Given the description of an element on the screen output the (x, y) to click on. 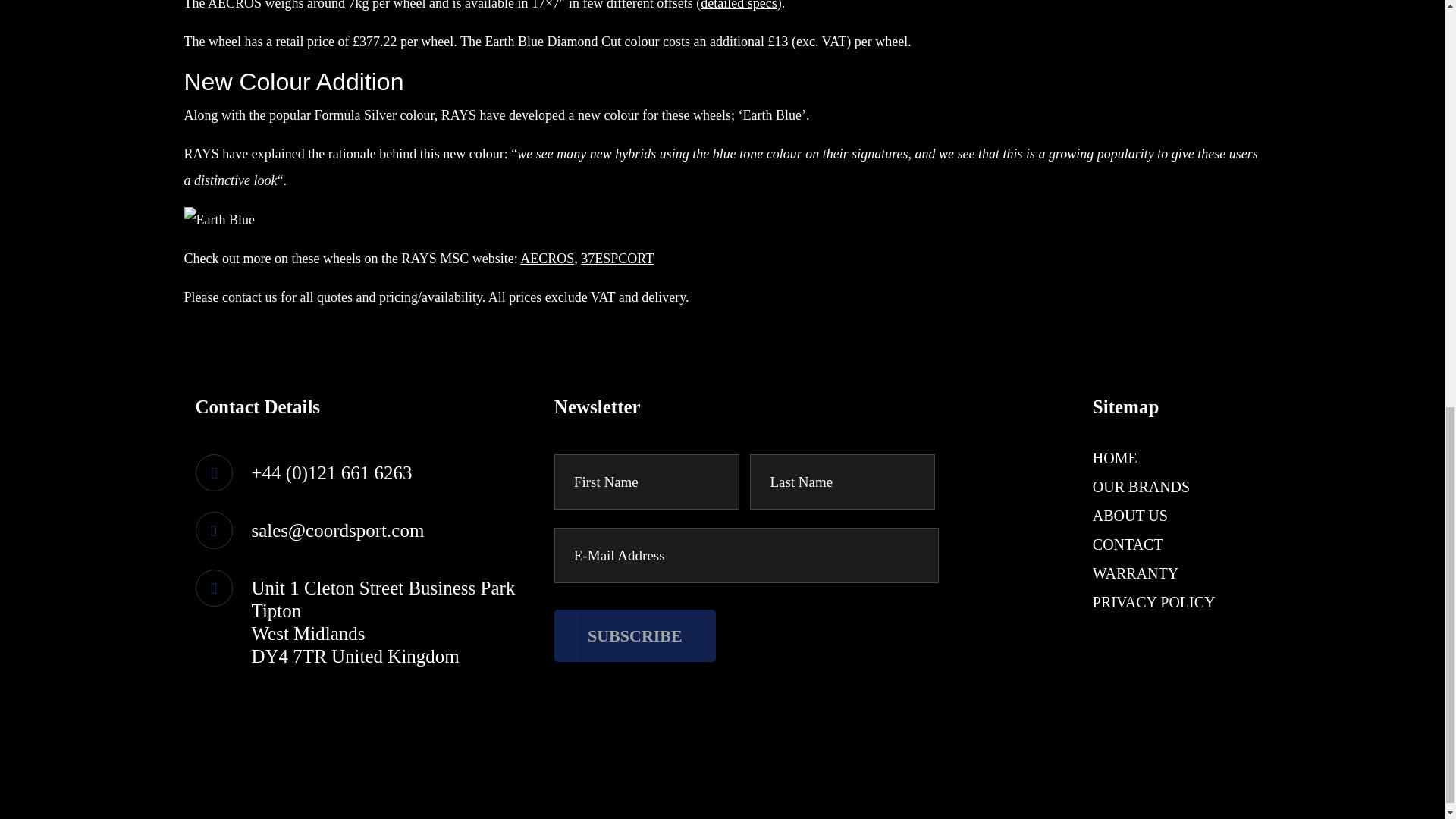
OUR BRANDS (1141, 486)
contact us (249, 296)
CONTACT (1128, 544)
detailed specs (738, 5)
WARRANTY (1135, 573)
HOME (1115, 458)
37ESPCORT (616, 258)
PRIVACY POLICY (1154, 602)
AECROS (546, 258)
